Given the description of an element on the screen output the (x, y) to click on. 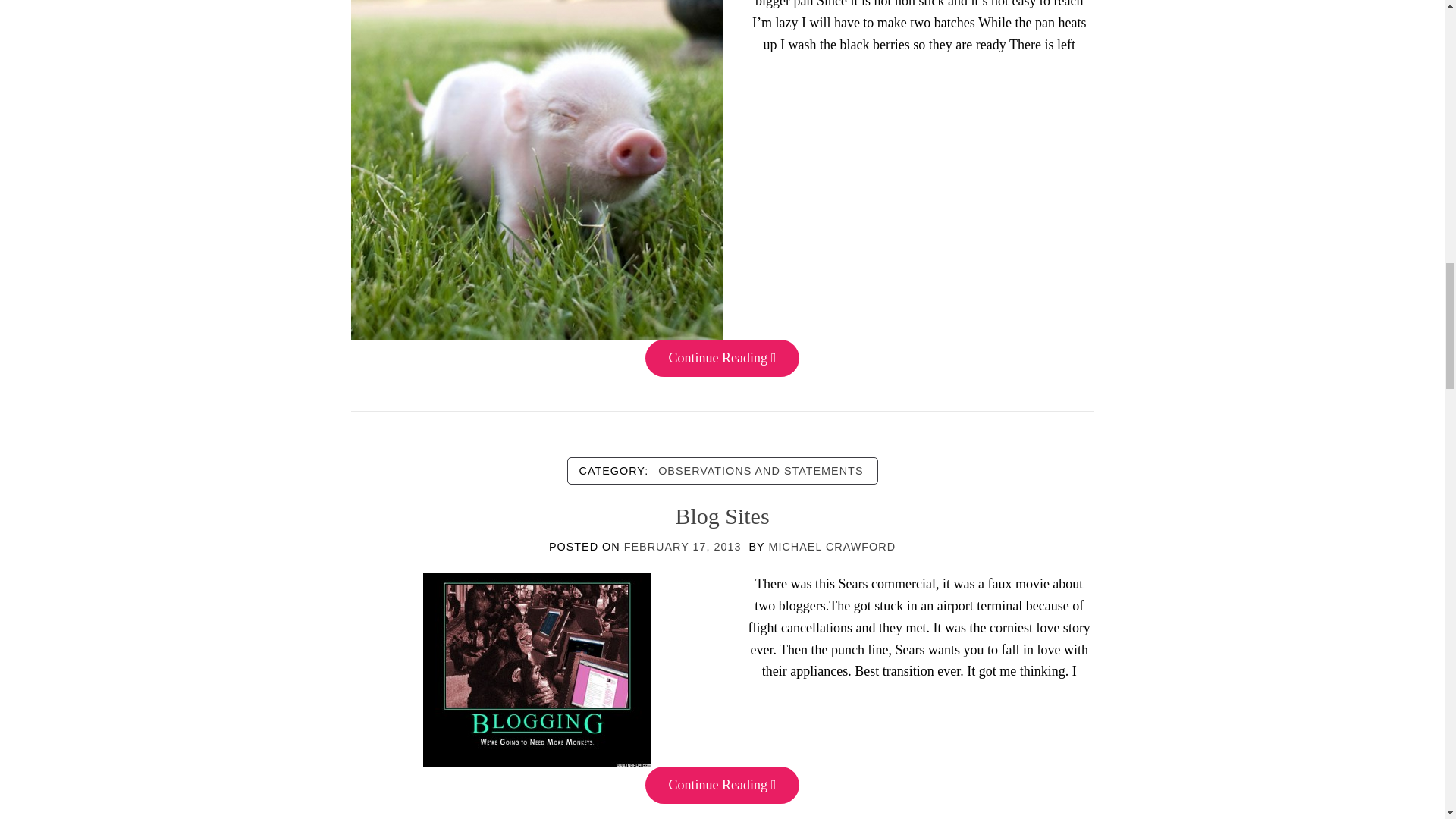
Blog Sites (536, 668)
Continue Reading (721, 784)
FEBRUARY 17, 2013 (682, 546)
OBSERVATIONS AND STATEMENTS (760, 470)
Blog Sites (721, 515)
MICHAEL CRAWFORD (831, 546)
Continue Reading (721, 357)
